Given the description of an element on the screen output the (x, y) to click on. 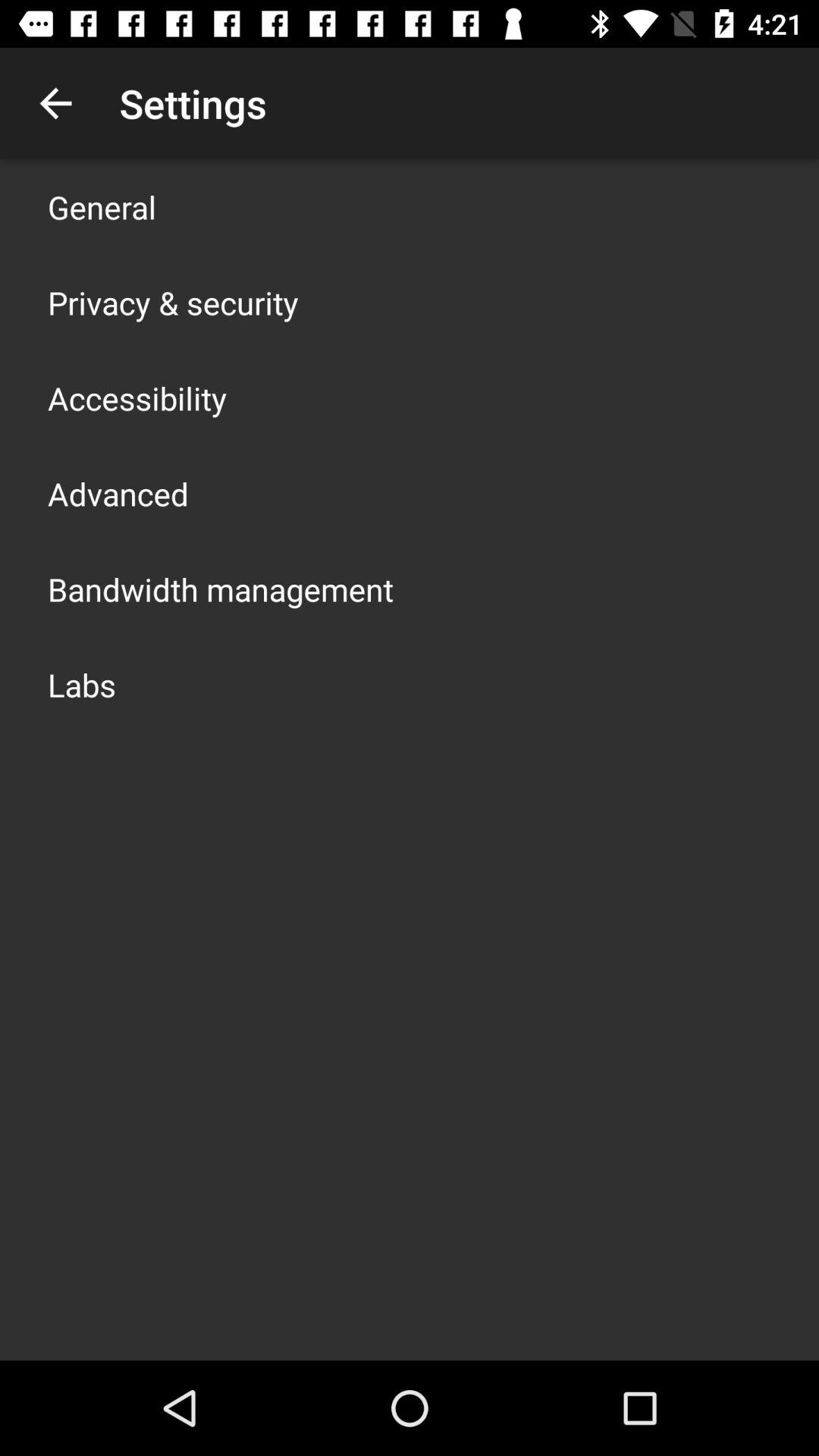
scroll to the labs (81, 684)
